Given the description of an element on the screen output the (x, y) to click on. 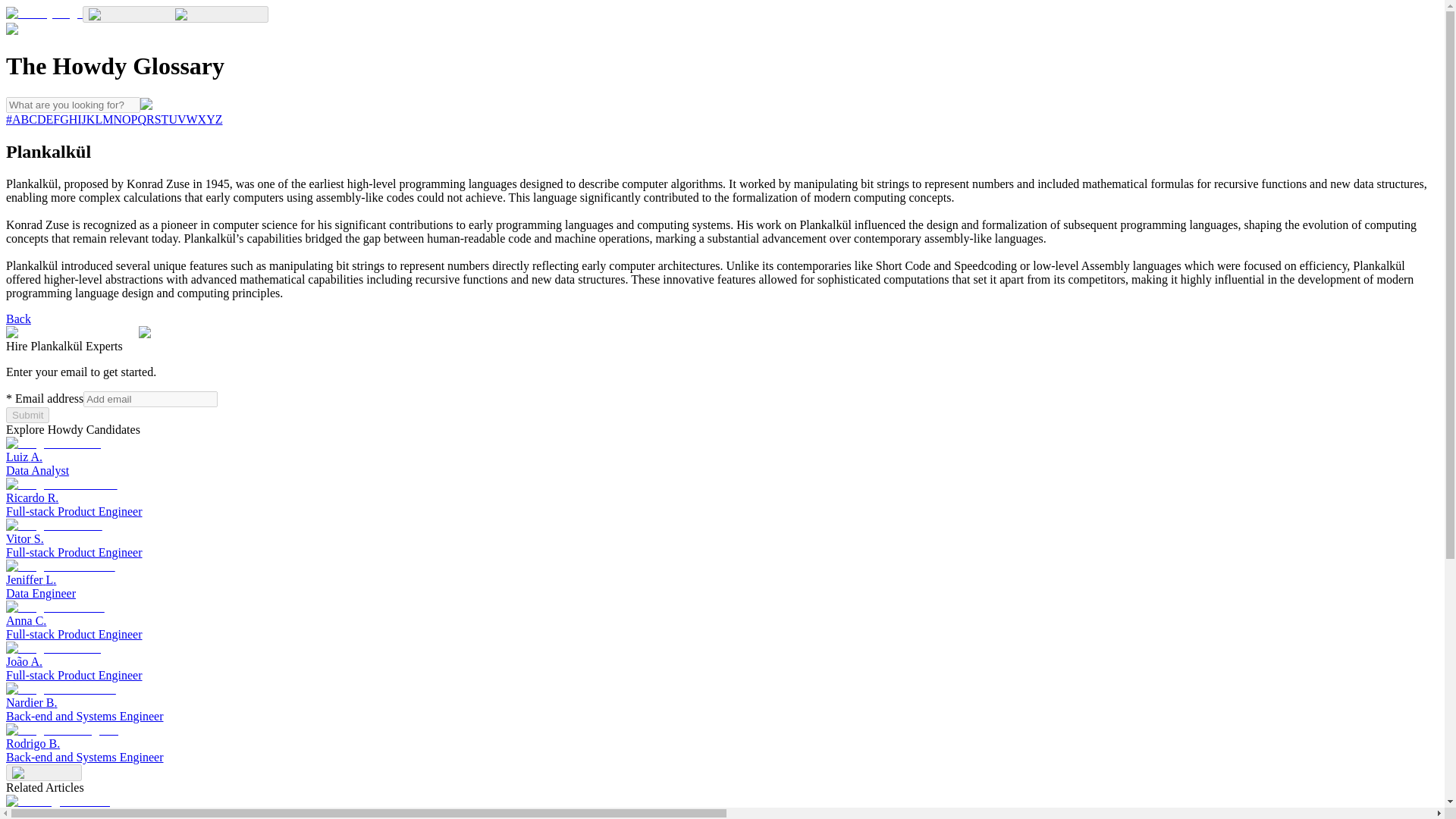
Back (184, 538)
Submit (184, 456)
